Given the description of an element on the screen output the (x, y) to click on. 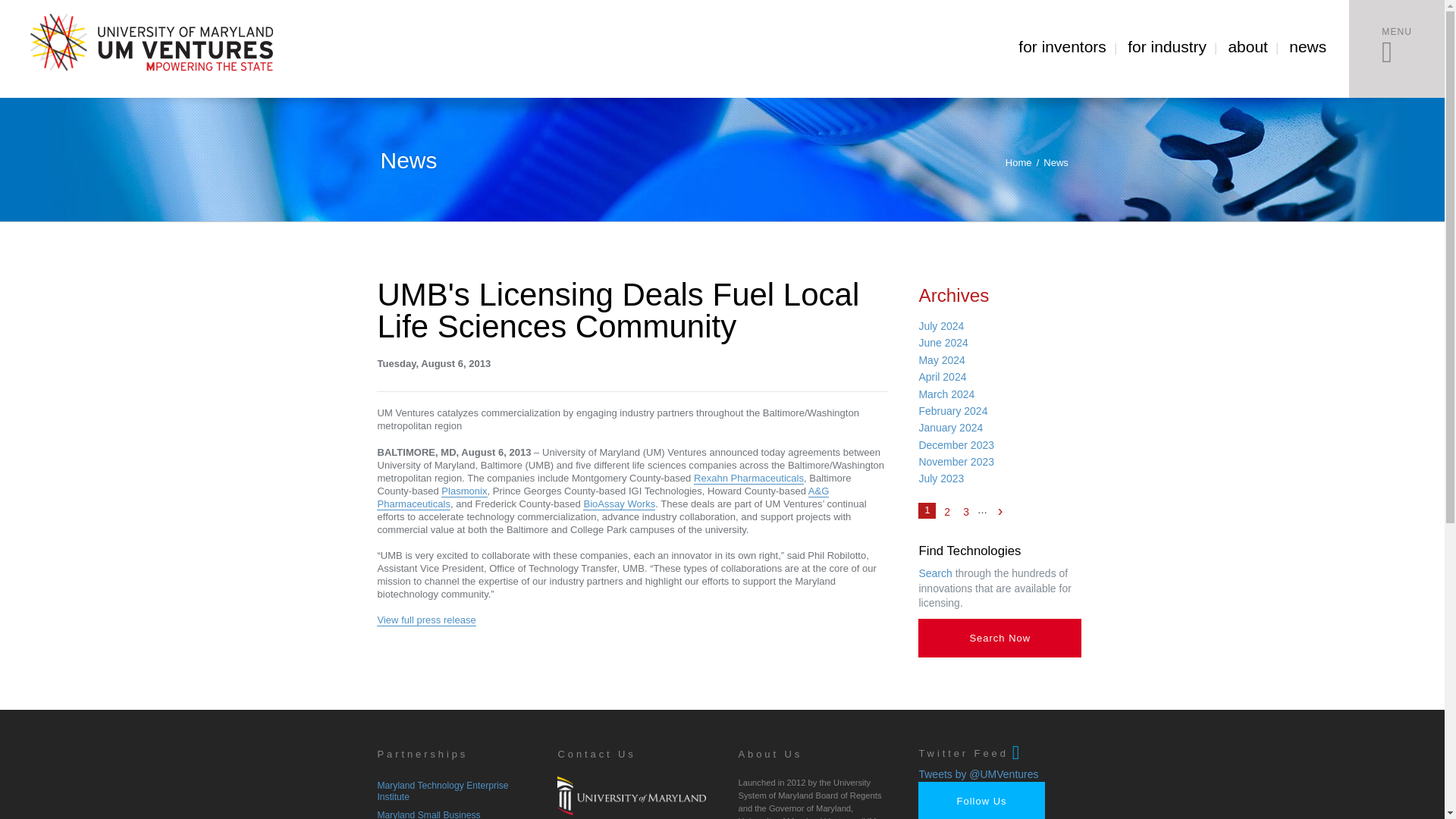
for inventors (1061, 46)
for industry (1166, 46)
about (1247, 46)
University of Maryland Ventures (151, 43)
news (1307, 46)
